Given the description of an element on the screen output the (x, y) to click on. 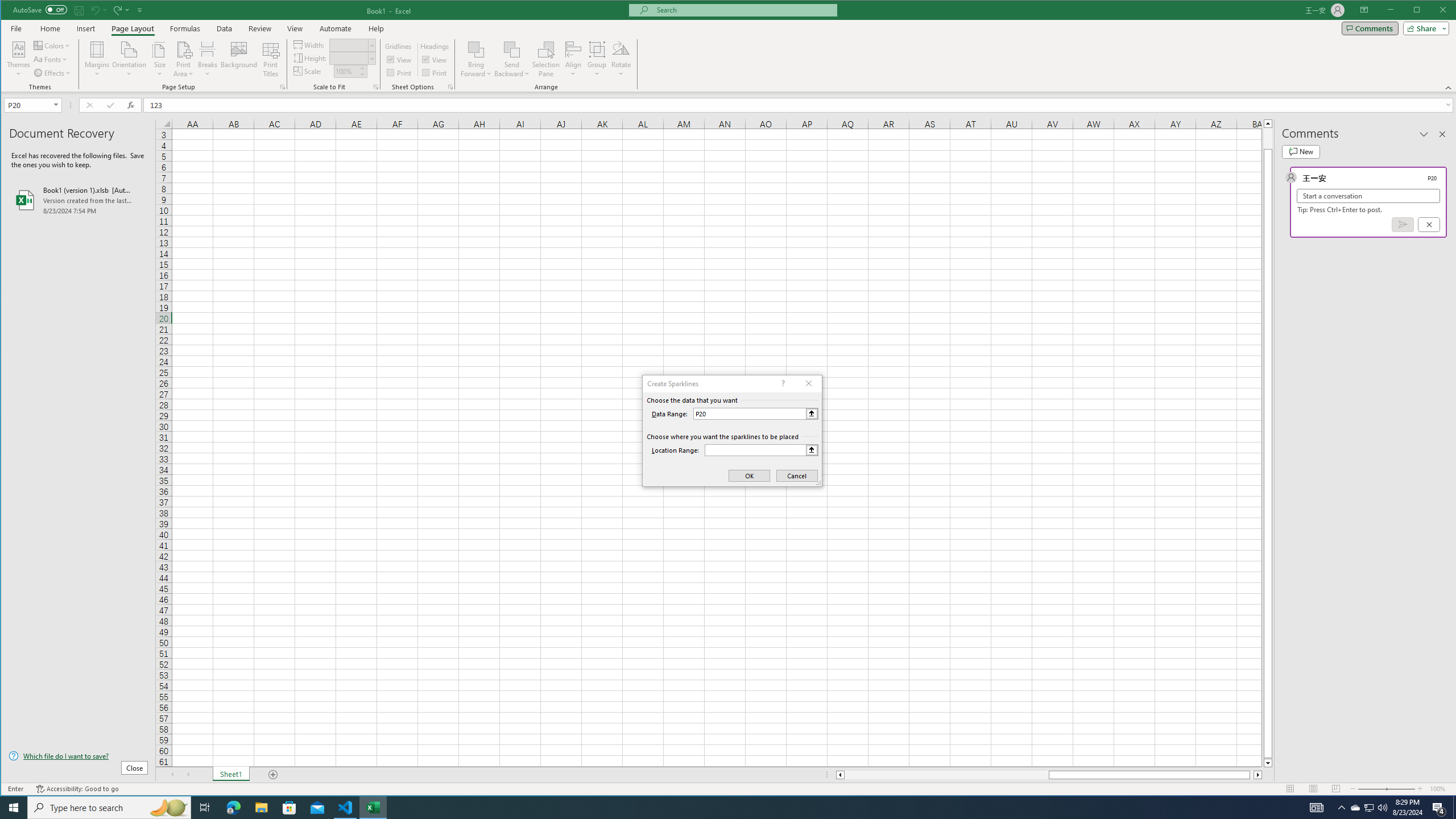
More (361, 68)
Print (434, 72)
Height (349, 58)
Fonts (51, 59)
Bring Forward (476, 48)
Book1 (version 1).xlsb  [AutoRecovered] (78, 199)
Background... (239, 59)
Sheet Options (449, 86)
